Given the description of an element on the screen output the (x, y) to click on. 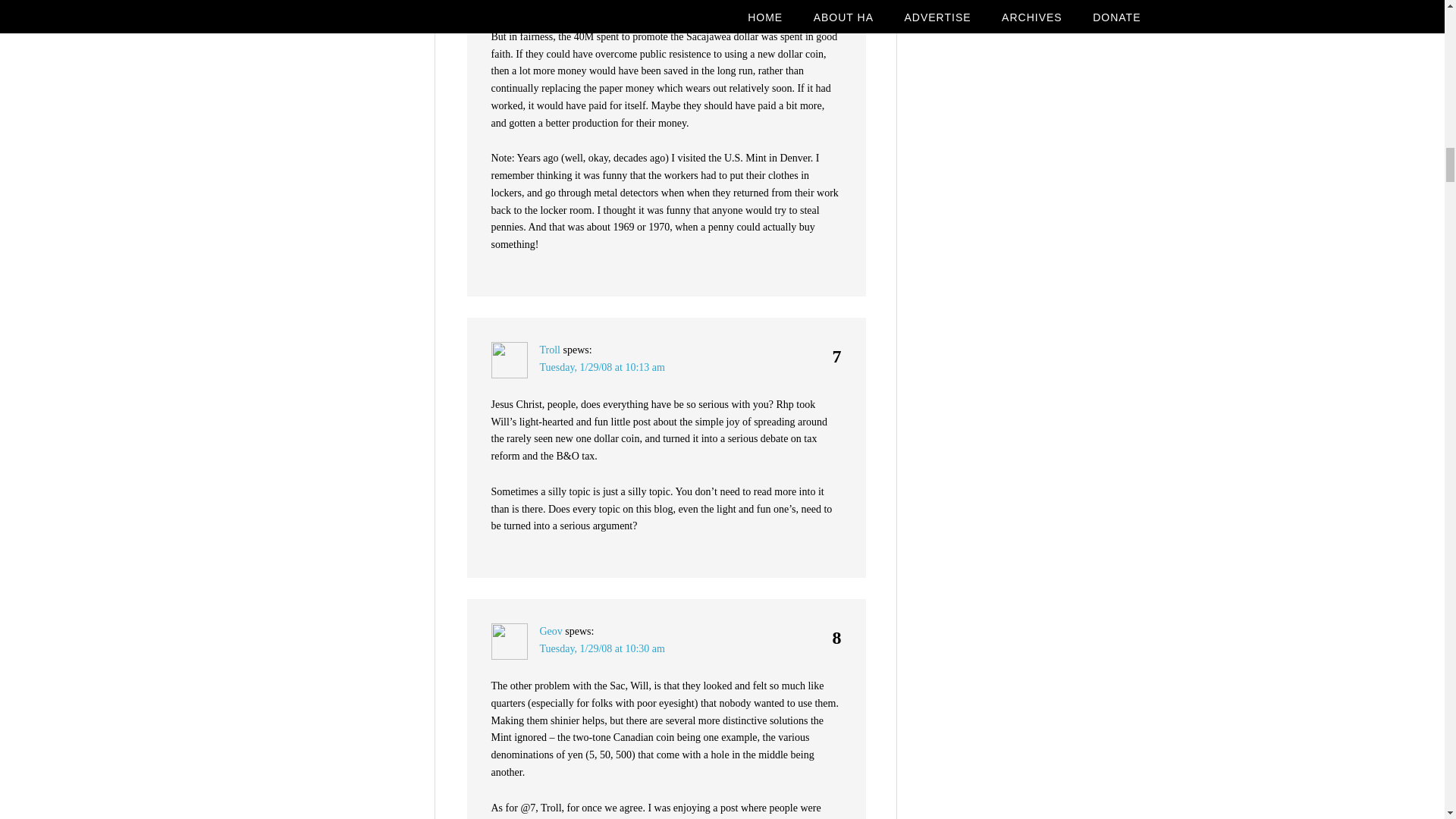
Geov (551, 631)
Troll (550, 349)
